Given the description of an element on the screen output the (x, y) to click on. 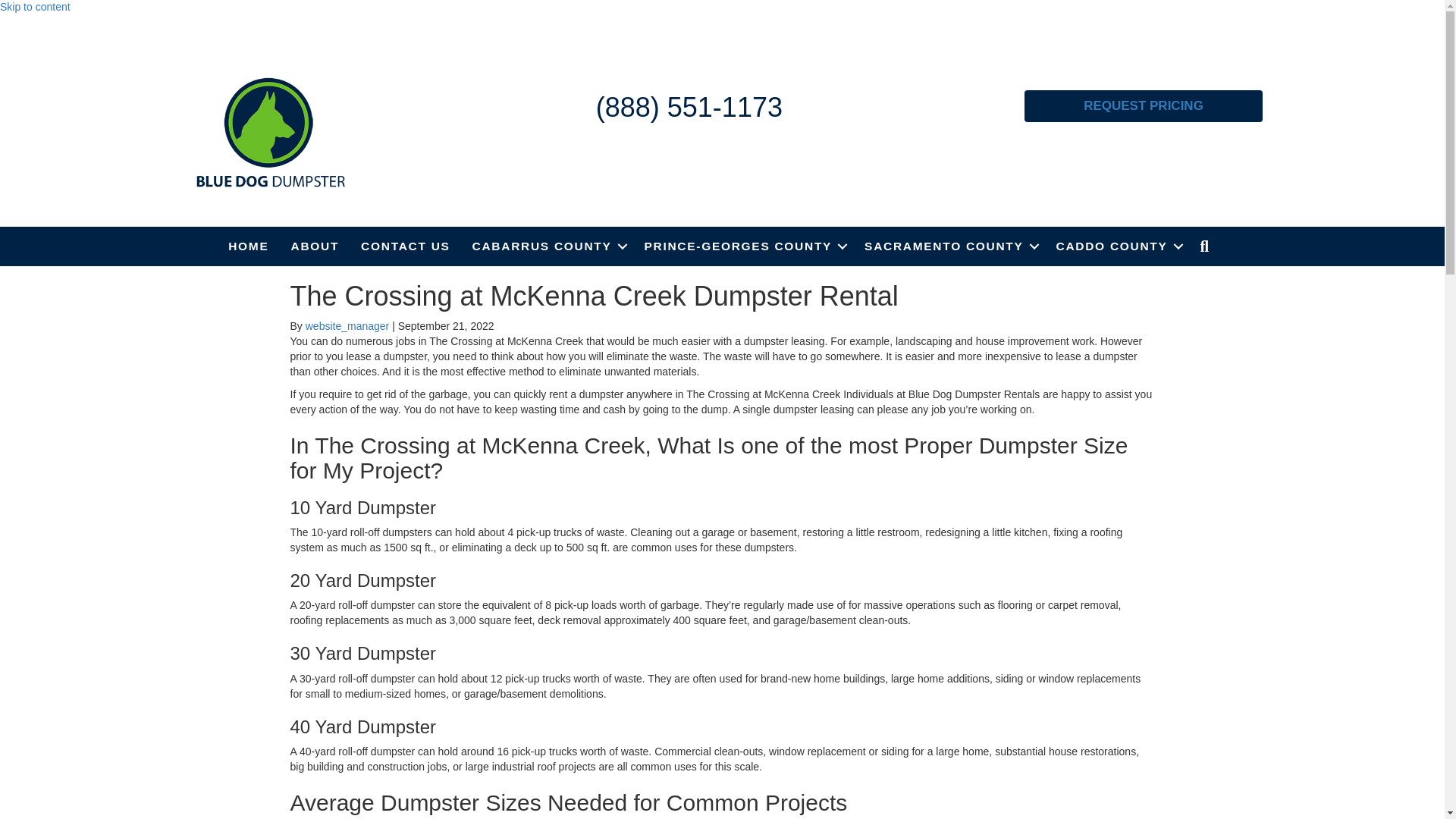
PRINCE-GEORGES COUNTY (743, 246)
CABARRUS COUNTY (547, 246)
REQUEST PRICING (1144, 106)
SACRAMENTO COUNTY (948, 246)
ABOUT (315, 246)
CONTACT US (405, 246)
Skip to content (34, 6)
bluedogdumpster (269, 131)
HOME (247, 246)
